Given the description of an element on the screen output the (x, y) to click on. 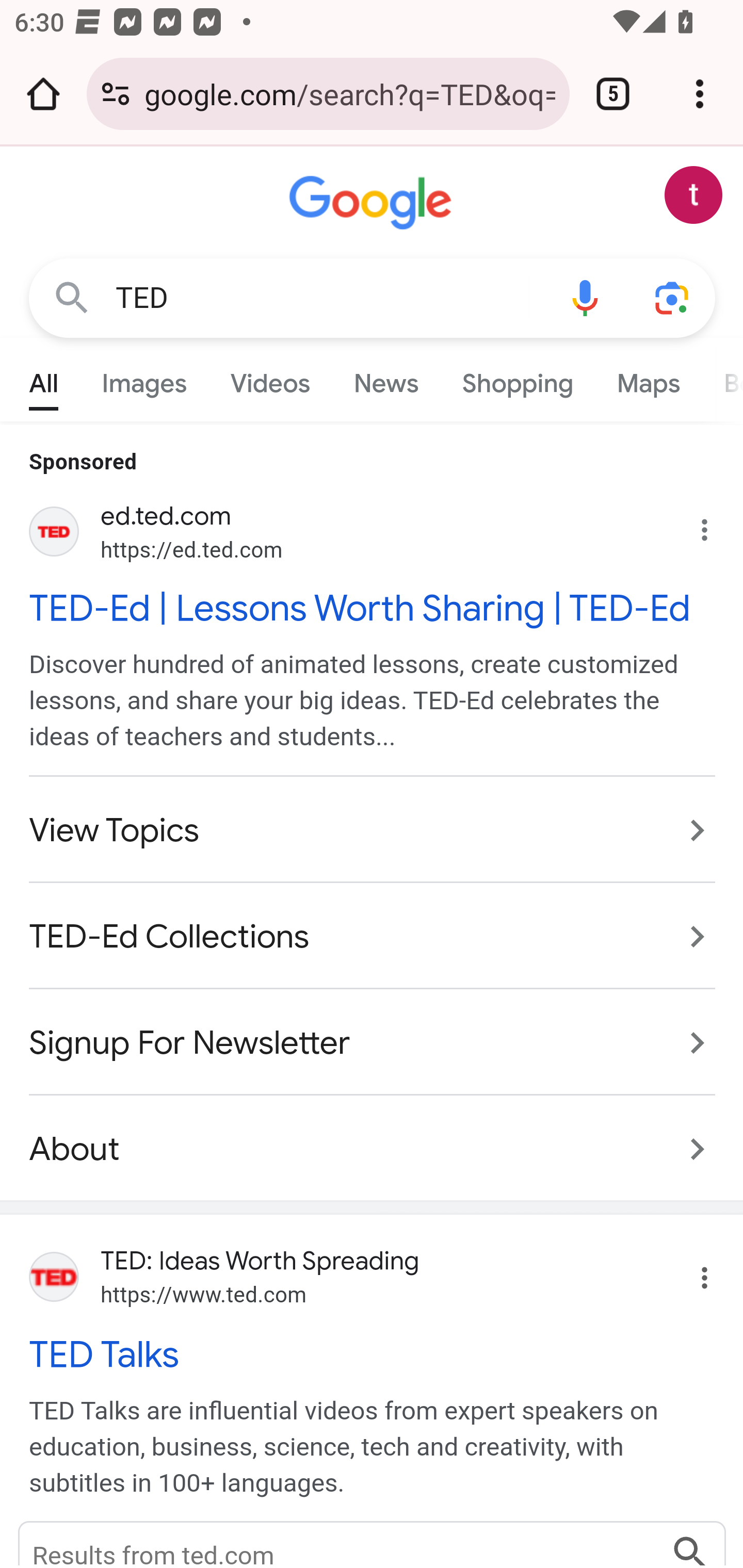
Open the home page (43, 93)
Connection is secure (115, 93)
Switch or close tabs (612, 93)
Customize and control Google Chrome (699, 93)
Google (372, 203)
Google Search (71, 296)
Search using your camera or photos (672, 296)
TED (328, 297)
Images (144, 378)
Videos (270, 378)
News (385, 378)
Shopping (516, 378)
Maps (647, 378)
Why this ad? (714, 525)
TED-Ed | Lessons Worth Sharing | TED-Ed (372, 608)
View Topics (372, 830)
TED-Ed Collections (372, 937)
Signup For Newsletter (372, 1043)
About (372, 1138)
TED Talks (372, 1353)
Search (690, 1544)
